Given the description of an element on the screen output the (x, y) to click on. 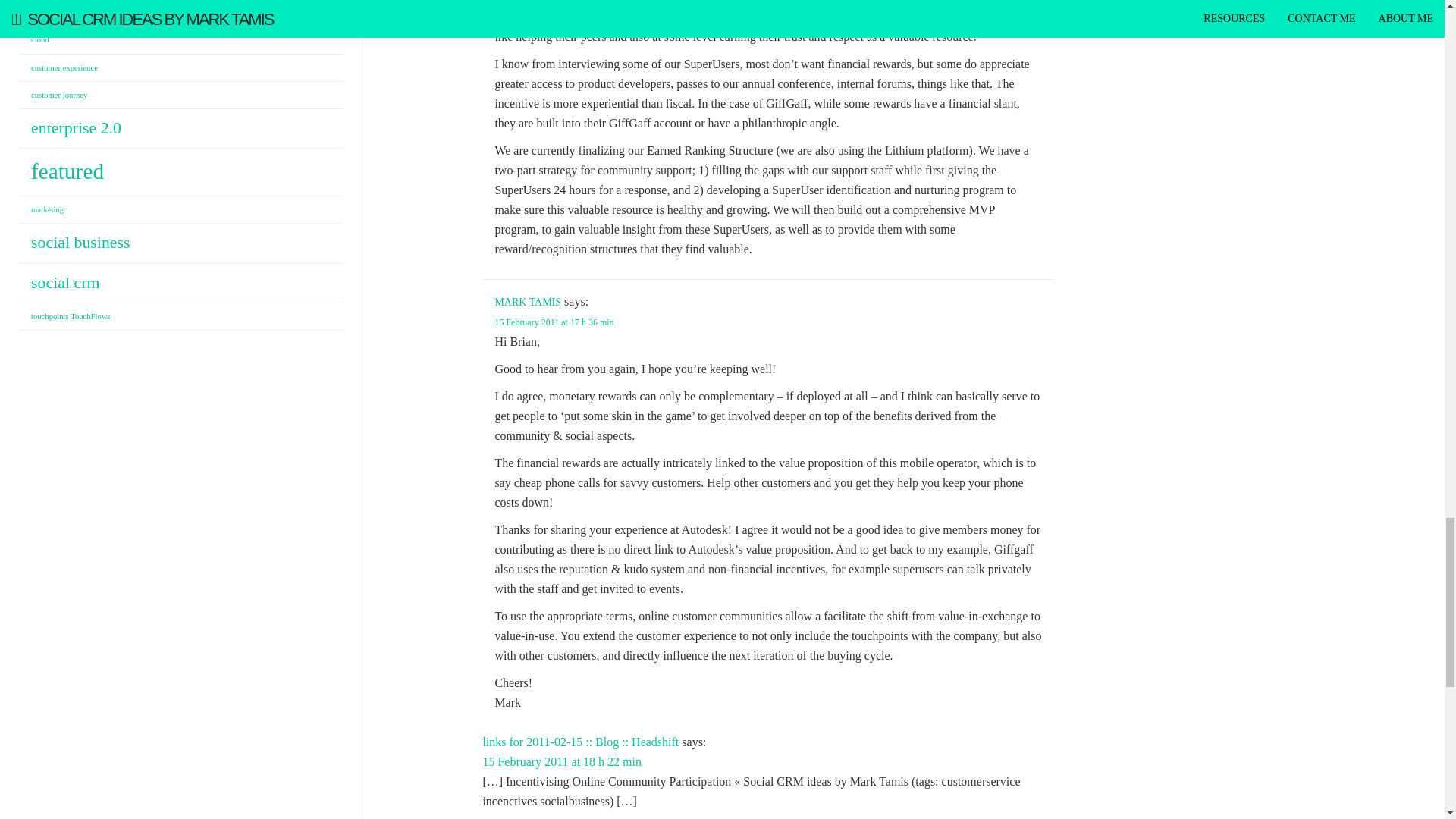
MARK TAMIS (527, 301)
